Given the description of an element on the screen output the (x, y) to click on. 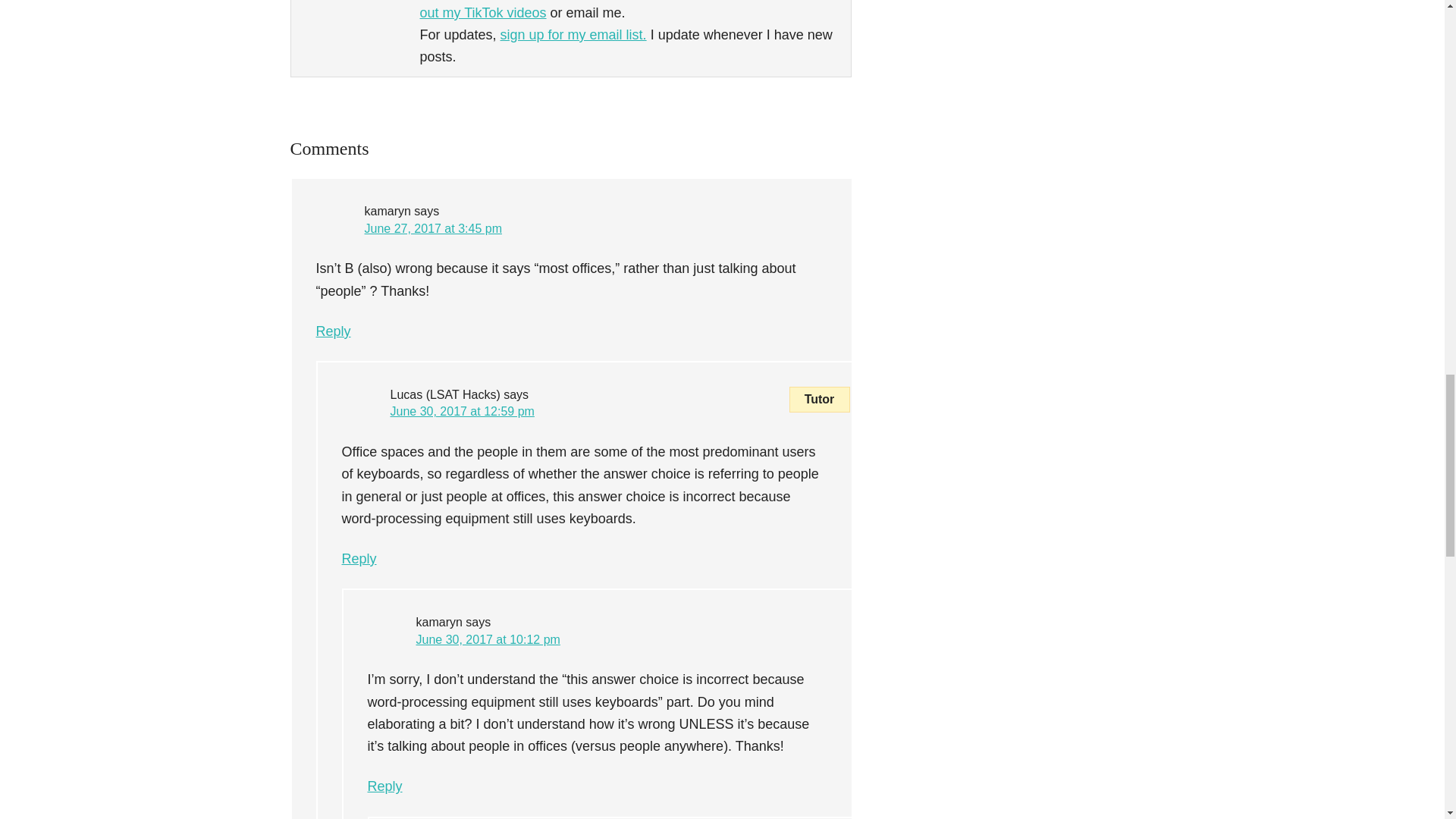
June 30, 2017 at 12:59 pm (462, 410)
June 30, 2017 at 10:12 pm (486, 639)
can check out my TikTok videos (628, 10)
Reply (383, 785)
June 27, 2017 at 3:45 pm (432, 228)
Reply (357, 558)
sign up for my email list. (573, 34)
Reply (332, 331)
